Given the description of an element on the screen output the (x, y) to click on. 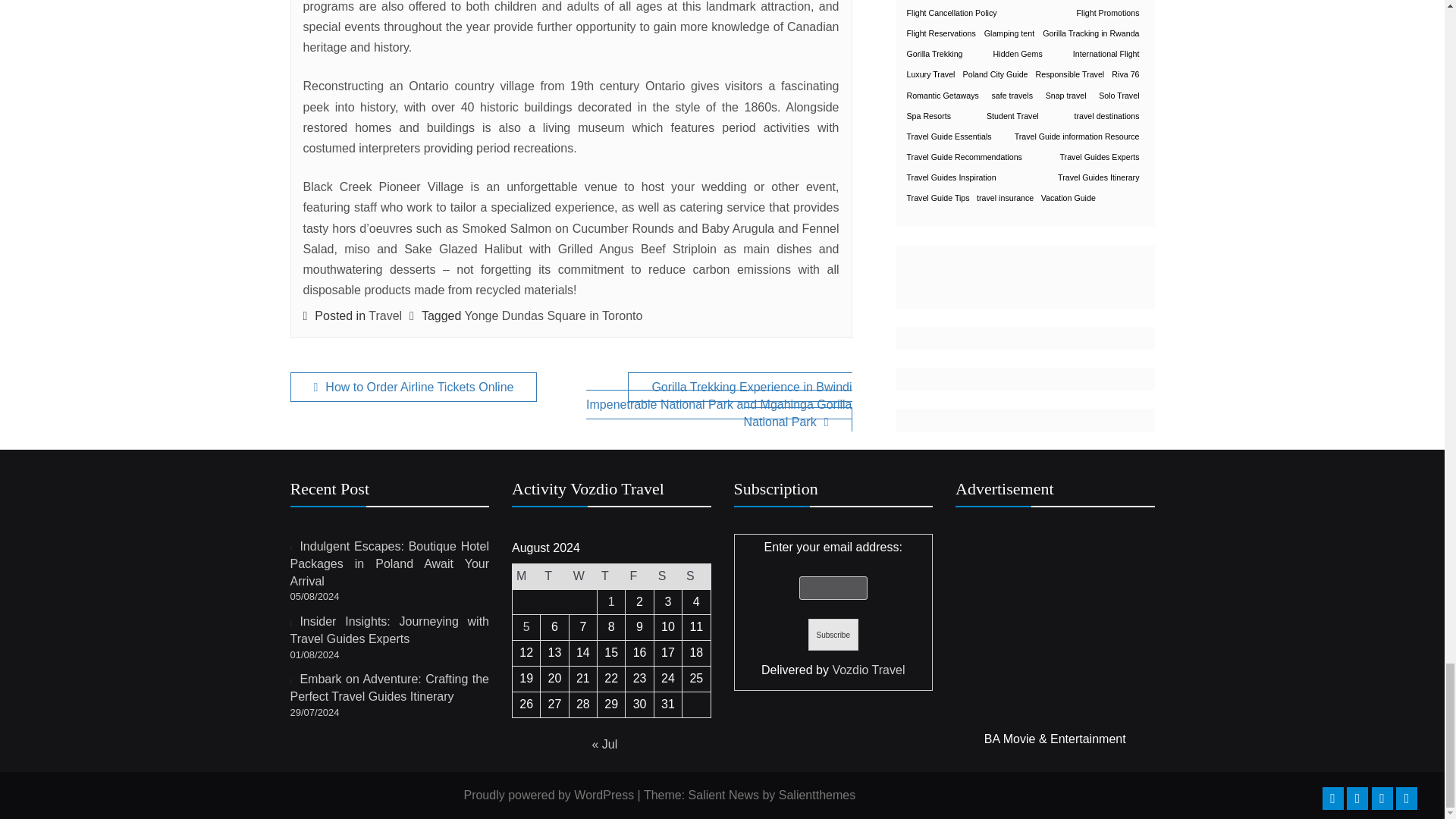
Thursday (611, 575)
Wednesday (582, 575)
Tuesday (554, 575)
Saturday (667, 575)
Sunday (696, 575)
Subscribe (833, 634)
Yonge Dundas Square in Toronto (553, 315)
Travel (384, 315)
CB Sports Manager (1054, 628)
